Given the description of an element on the screen output the (x, y) to click on. 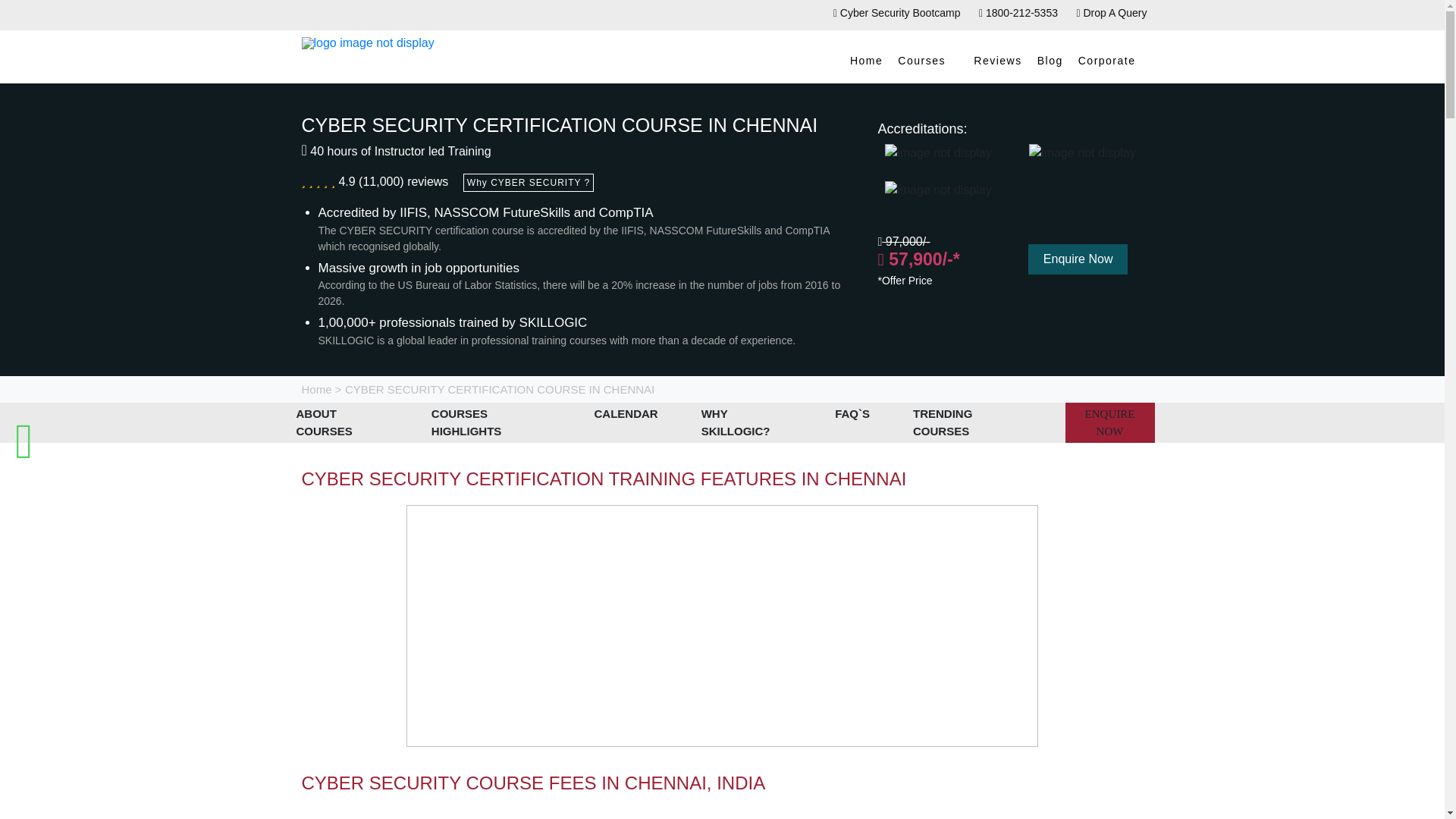
Home (866, 60)
1800-212-5353 (1018, 12)
Cyber Security Bootcamp (896, 12)
Courses (927, 60)
Drop A Query (1111, 12)
